Given the description of an element on the screen output the (x, y) to click on. 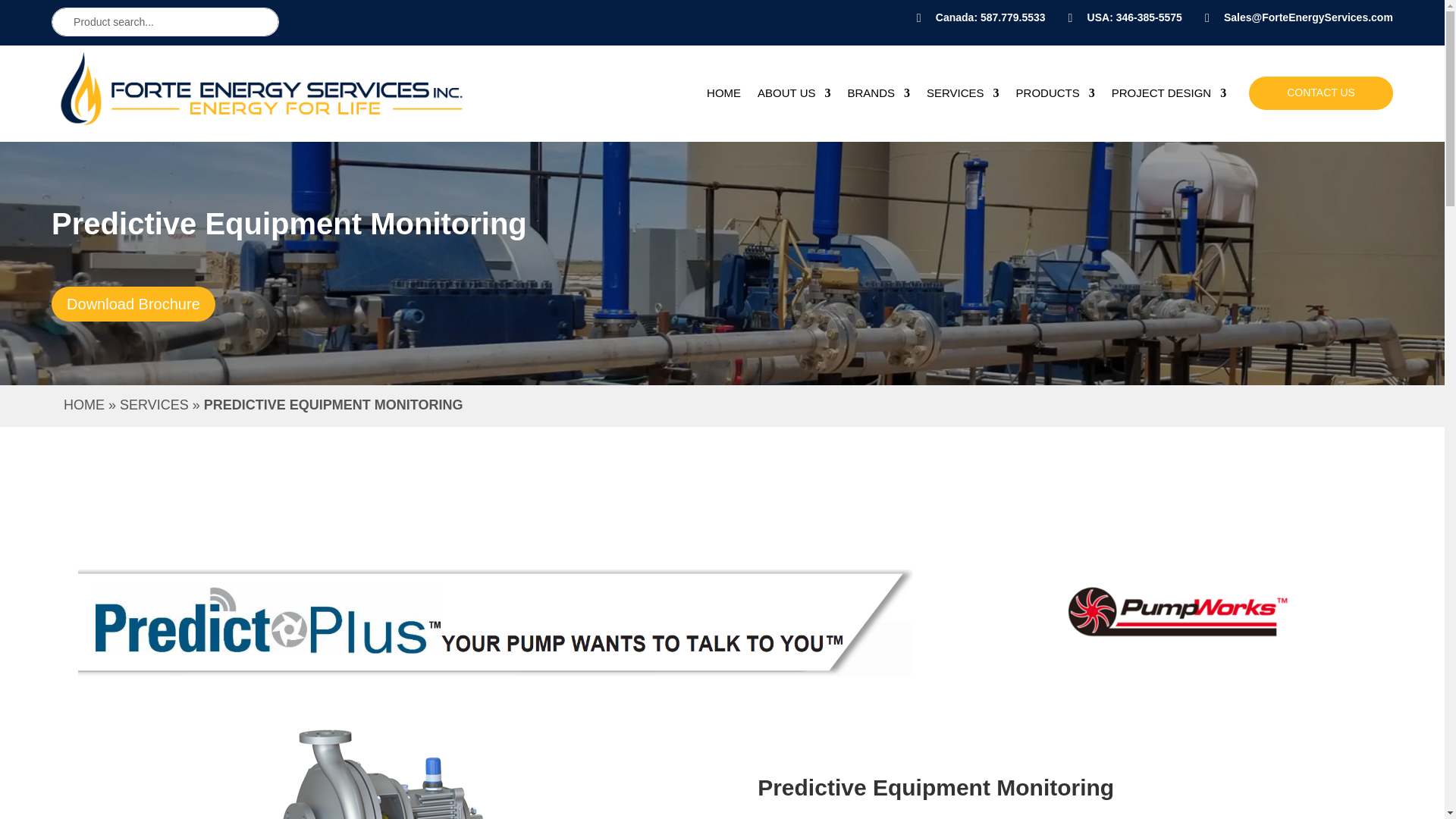
Canada: 587.779.5533 (990, 17)
HOME (723, 95)
USA: 346-385-5575 (1134, 17)
Search (24, 13)
ABOUT US (793, 95)
